Given the description of an element on the screen output the (x, y) to click on. 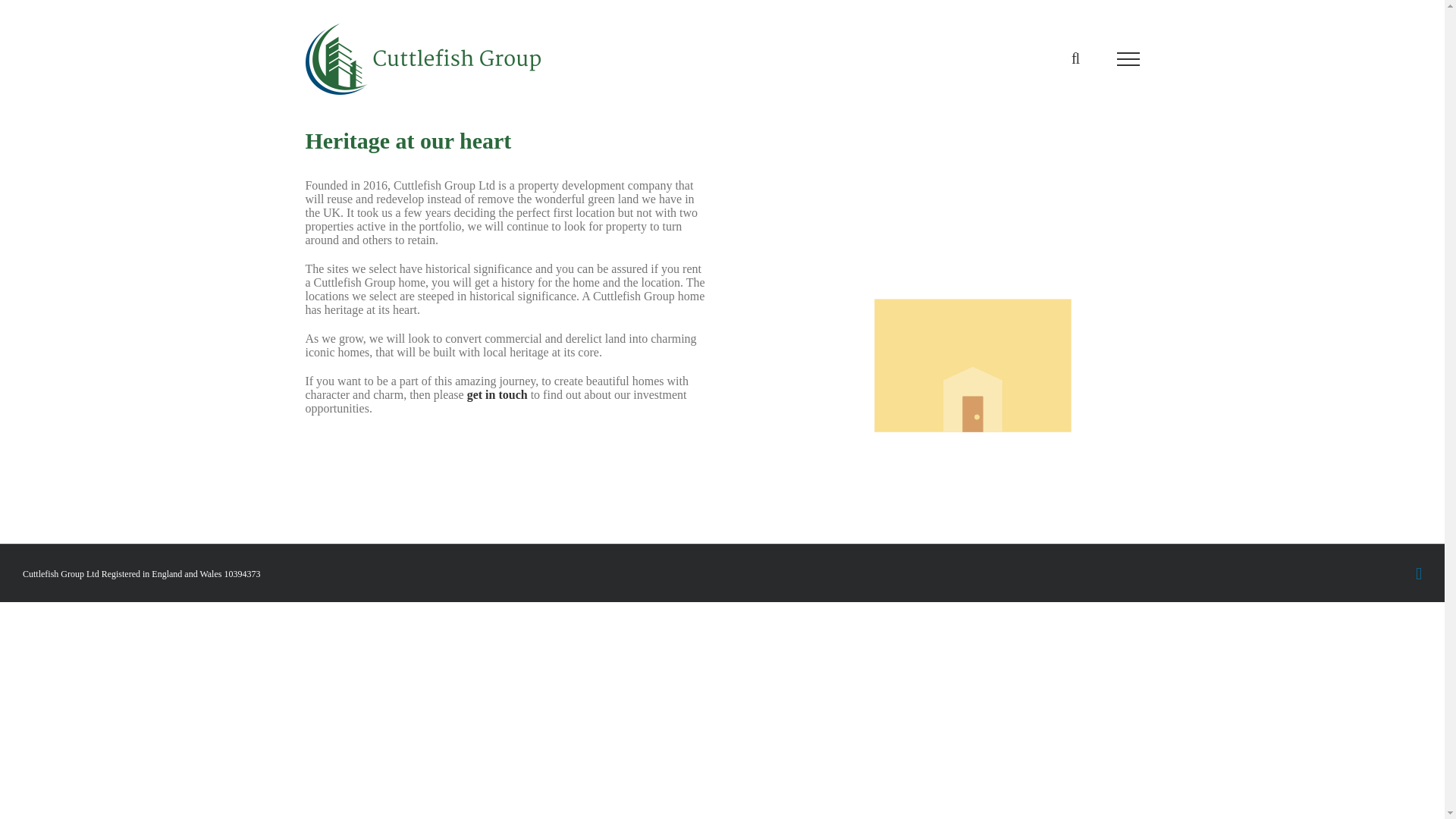
get in touch (497, 394)
